Given the description of an element on the screen output the (x, y) to click on. 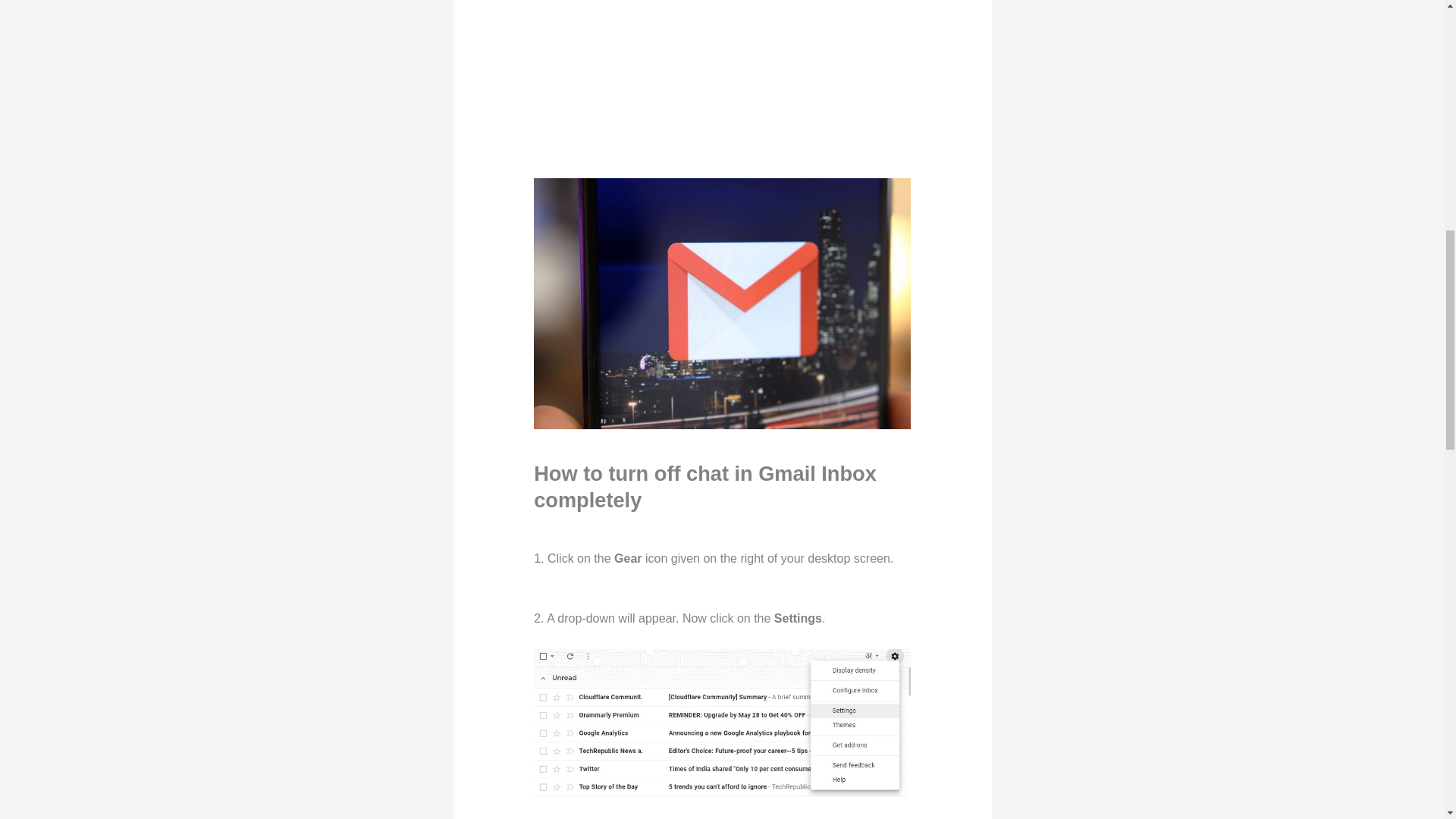
Advertisement (772, 79)
